Given the description of an element on the screen output the (x, y) to click on. 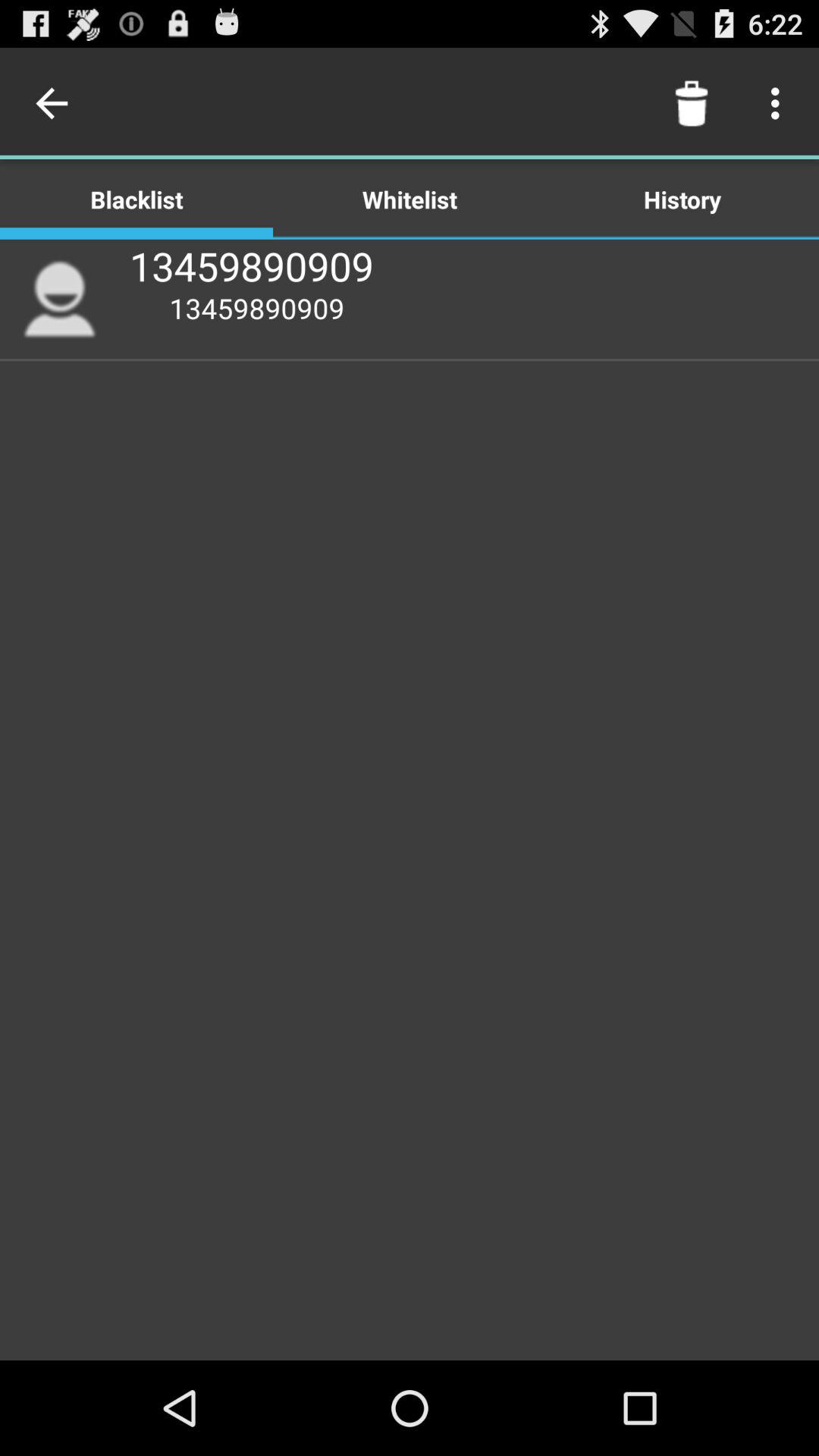
tap icon to the right of the blacklist (409, 199)
